Given the description of an element on the screen output the (x, y) to click on. 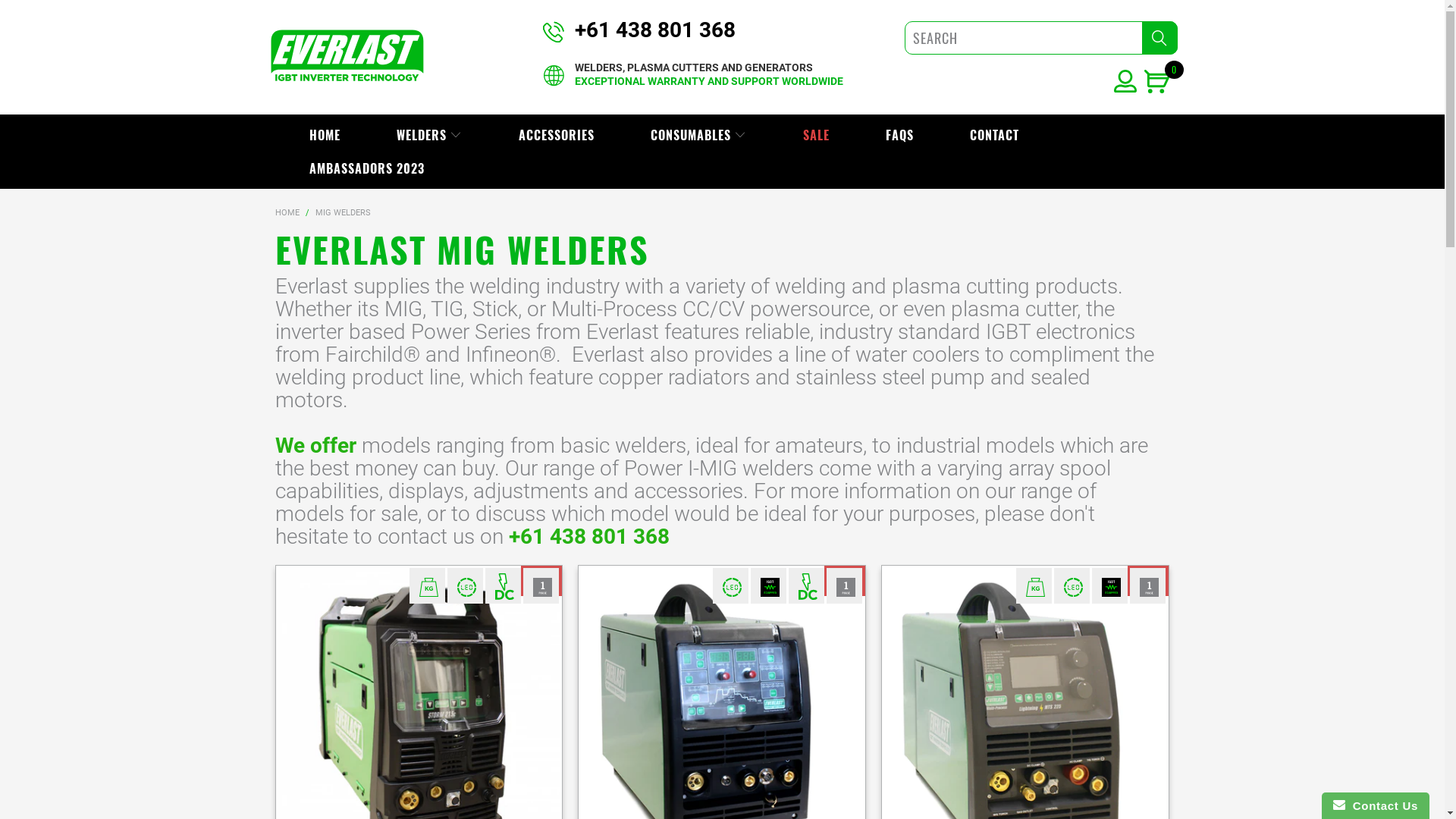
1_phase Element type: hover (542, 586)
igbt_equipped Element type: hover (769, 586)
+61 438 801 368 Element type: text (588, 536)
0 Element type: text (1159, 84)
digital_display Element type: hover (1073, 586)
AMBASSADORS 2023 Element type: text (366, 168)
SALE Element type: text (816, 134)
Lightweight Element type: hover (1035, 586)
digital_display Element type: hover (466, 586)
1_phase Element type: hover (845, 586)
HOME Element type: text (324, 134)
igbt_equipped Element type: hover (1110, 586)
WELDERS Element type: text (428, 134)
Everlast Welders Australia Element type: hover (346, 57)
FAQS Element type: text (899, 134)
CONSUMABLES Element type: text (698, 134)
CONTACT Element type: text (994, 134)
MIG WELDERS Element type: text (342, 212)
digital_display Element type: hover (731, 586)
We offer Element type: text (314, 445)
HOME Element type: text (286, 212)
1_phase Element type: hover (1148, 586)
Lightweight Element type: hover (428, 586)
+61 438 801 368 Element type: text (654, 29)
ACCESSORIES Element type: text (556, 134)
_dc Element type: hover (504, 586)
_dc Element type: hover (807, 586)
